Given the description of an element on the screen output the (x, y) to click on. 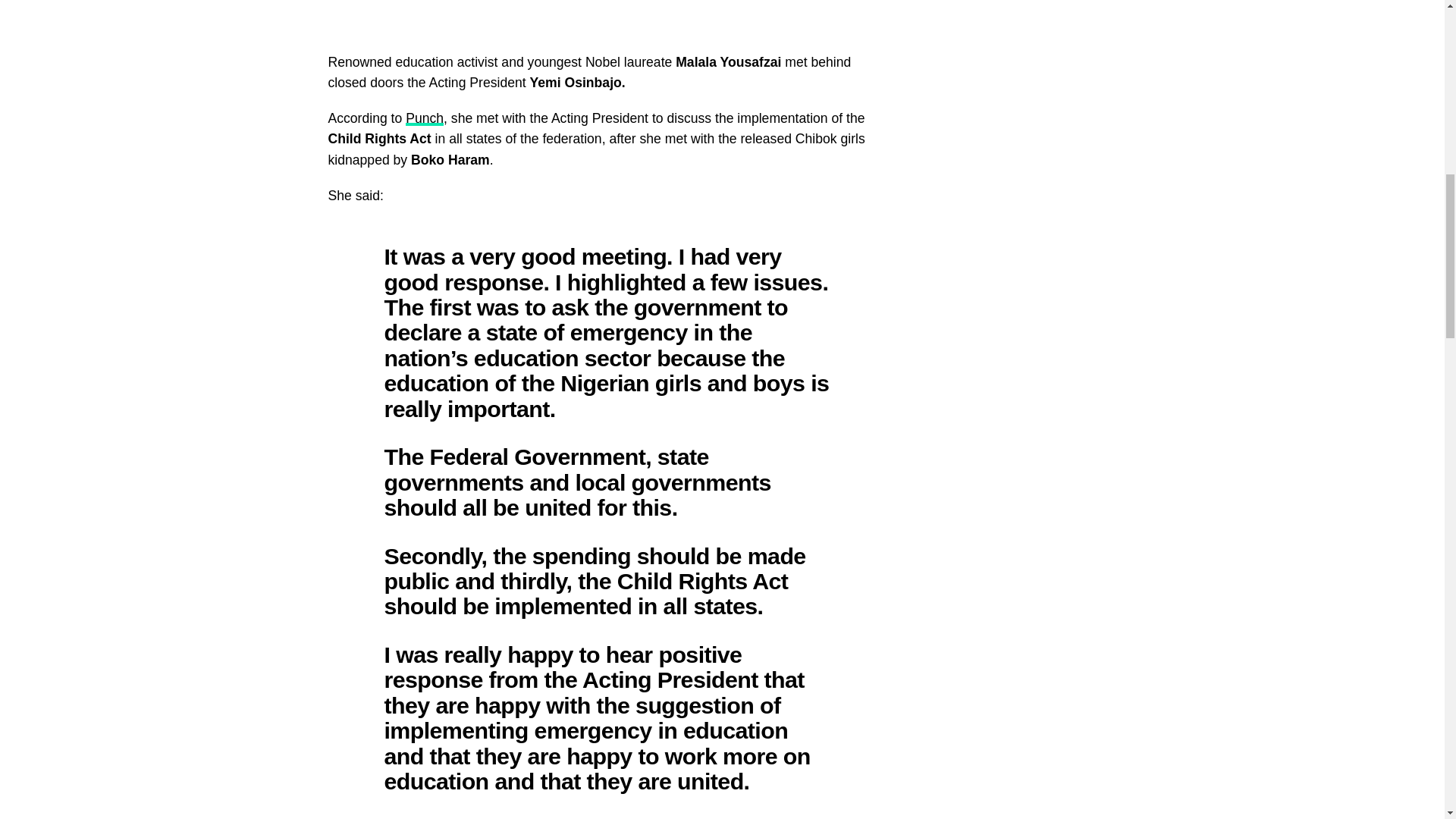
Punch (425, 118)
